Given the description of an element on the screen output the (x, y) to click on. 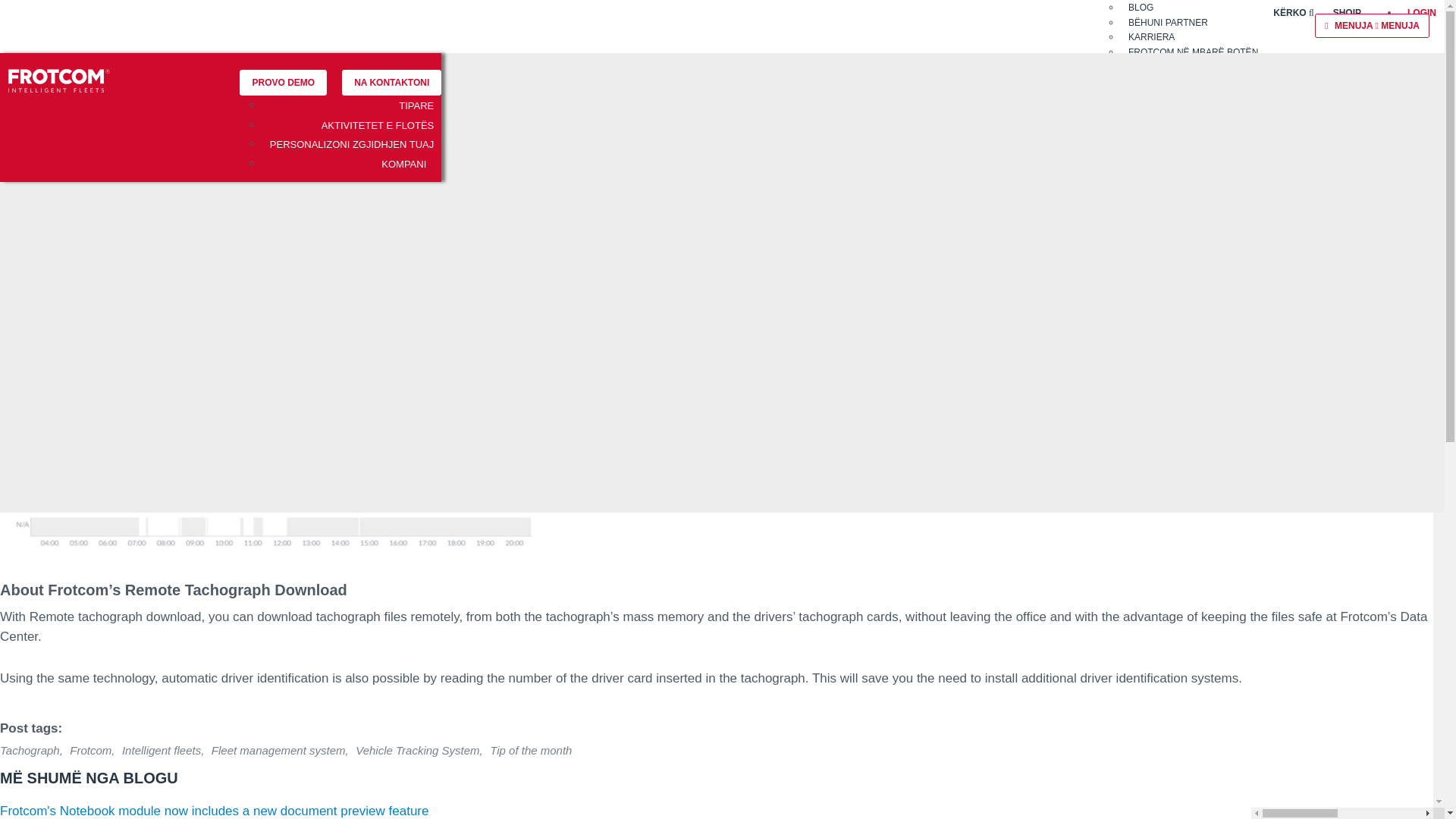
TIPARE (415, 113)
BLOG (1140, 8)
Blog - Show totals for any period in the Tachograph graph (284, 462)
MENUJA MENUJA (1371, 25)
SHQIP (1346, 13)
PERSONALIZONI ZGJIDHJEN TUAJ (351, 151)
KARRIERA (1151, 36)
KOMPANI (403, 171)
